Given the description of an element on the screen output the (x, y) to click on. 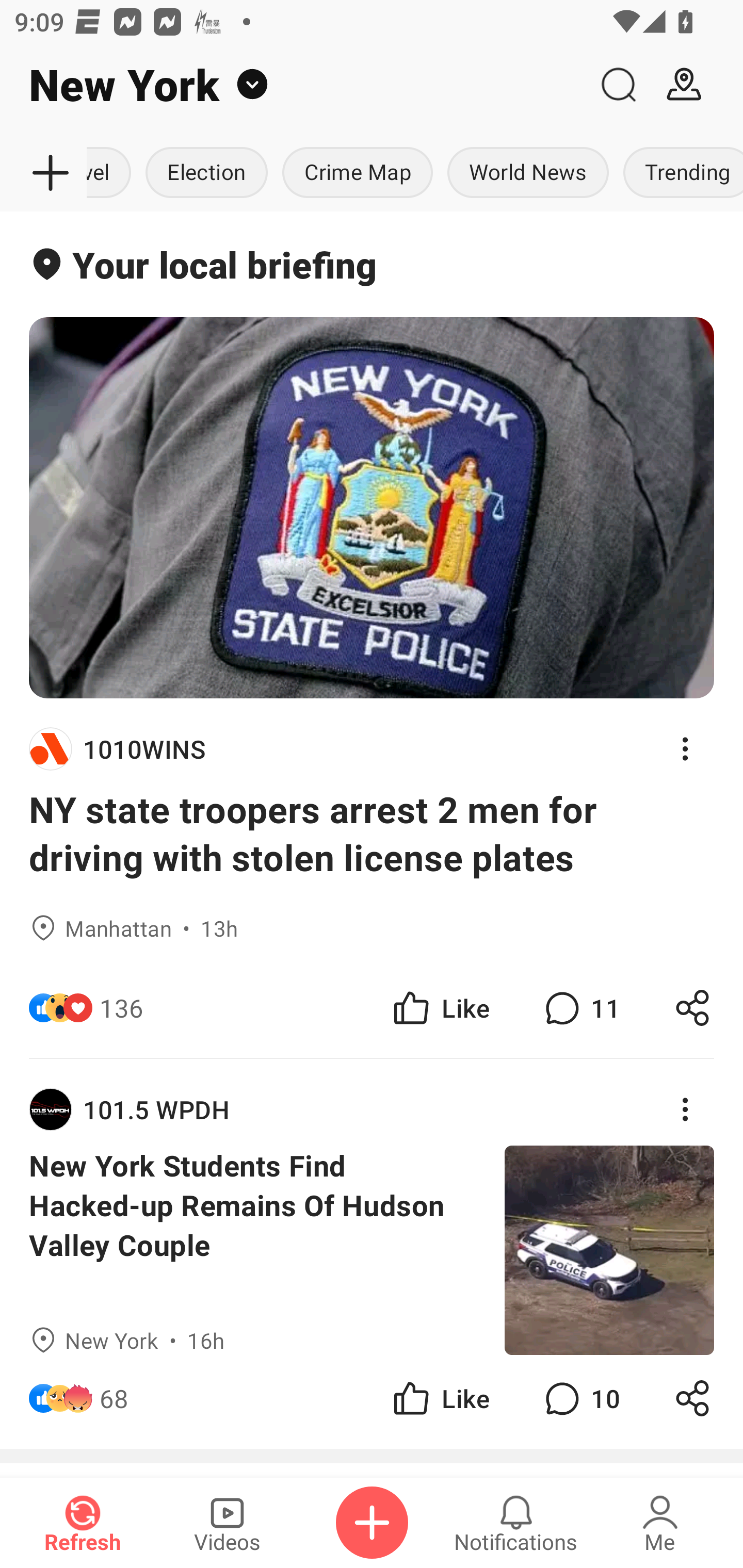
New York (292, 84)
Election (206, 172)
Crime Map (356, 172)
World News (527, 172)
Trending (679, 172)
136 (121, 1007)
Like (439, 1007)
11 (579, 1007)
68 (113, 1397)
Like (439, 1397)
10 (579, 1397)
Videos (227, 1522)
Notifications (516, 1522)
Me (659, 1522)
